Given the description of an element on the screen output the (x, y) to click on. 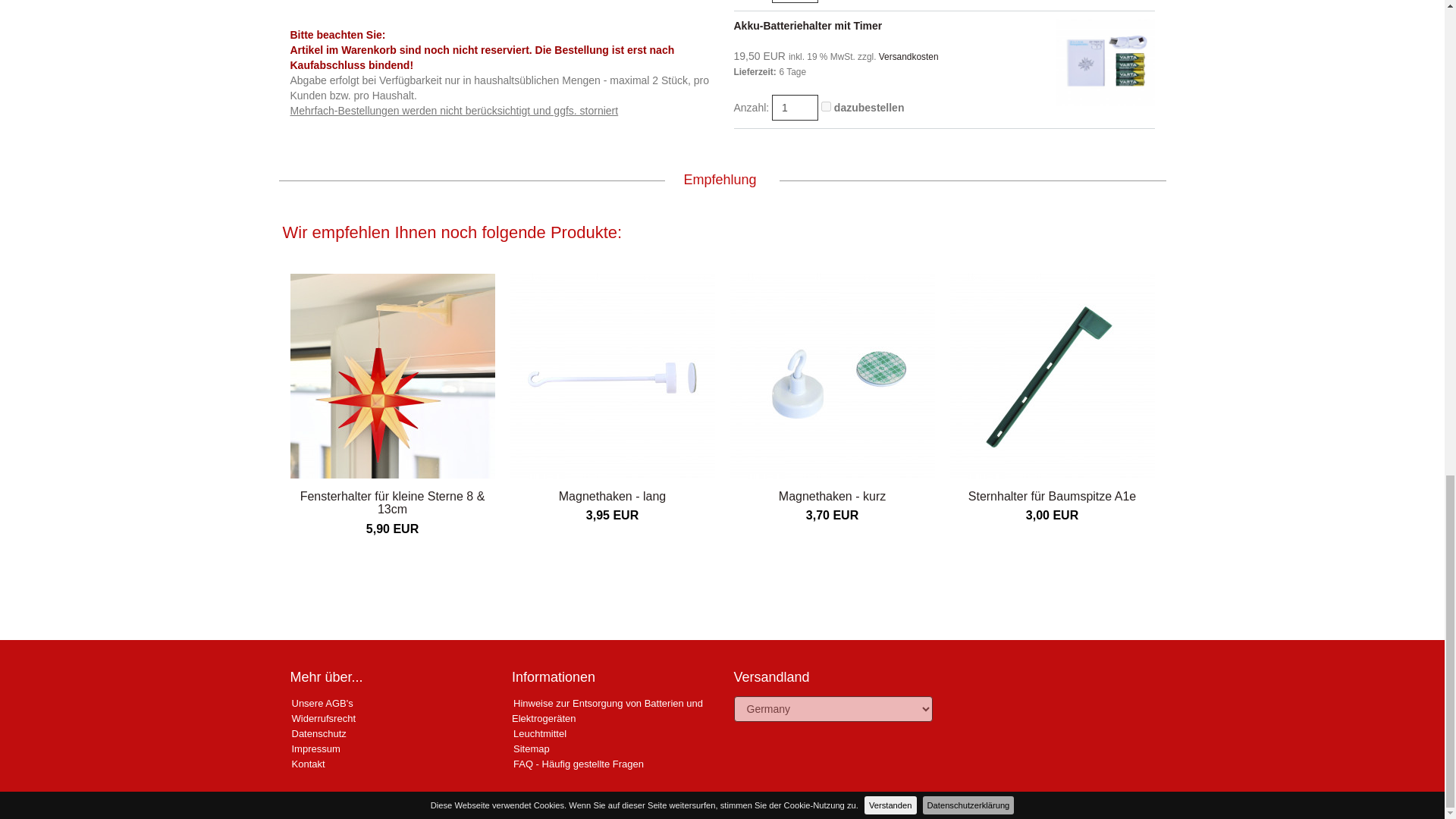
1 (794, 107)
567 (826, 106)
1 (794, 1)
